Given the description of an element on the screen output the (x, y) to click on. 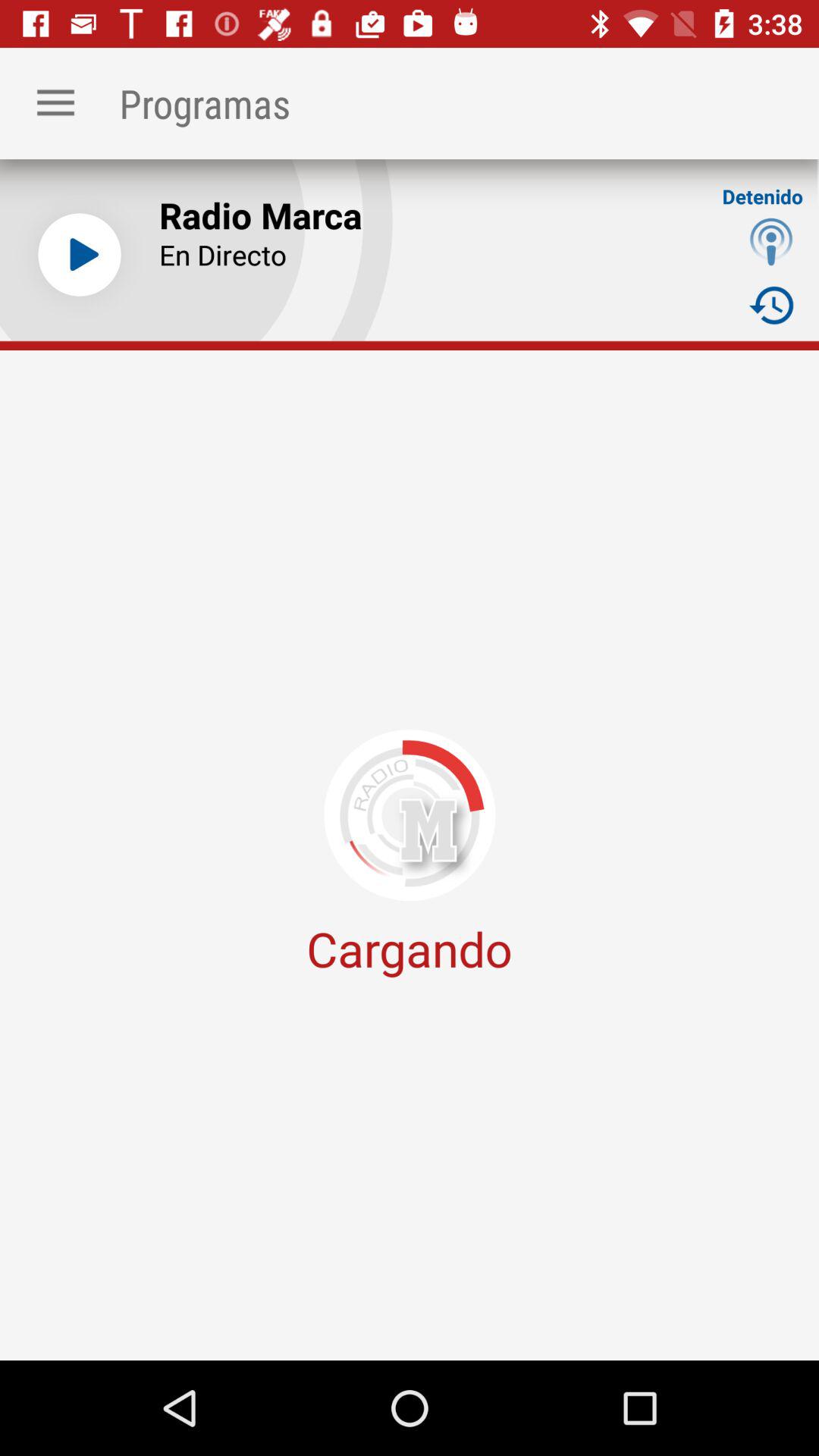
turn on the item next to en directo (771, 241)
